Given the description of an element on the screen output the (x, y) to click on. 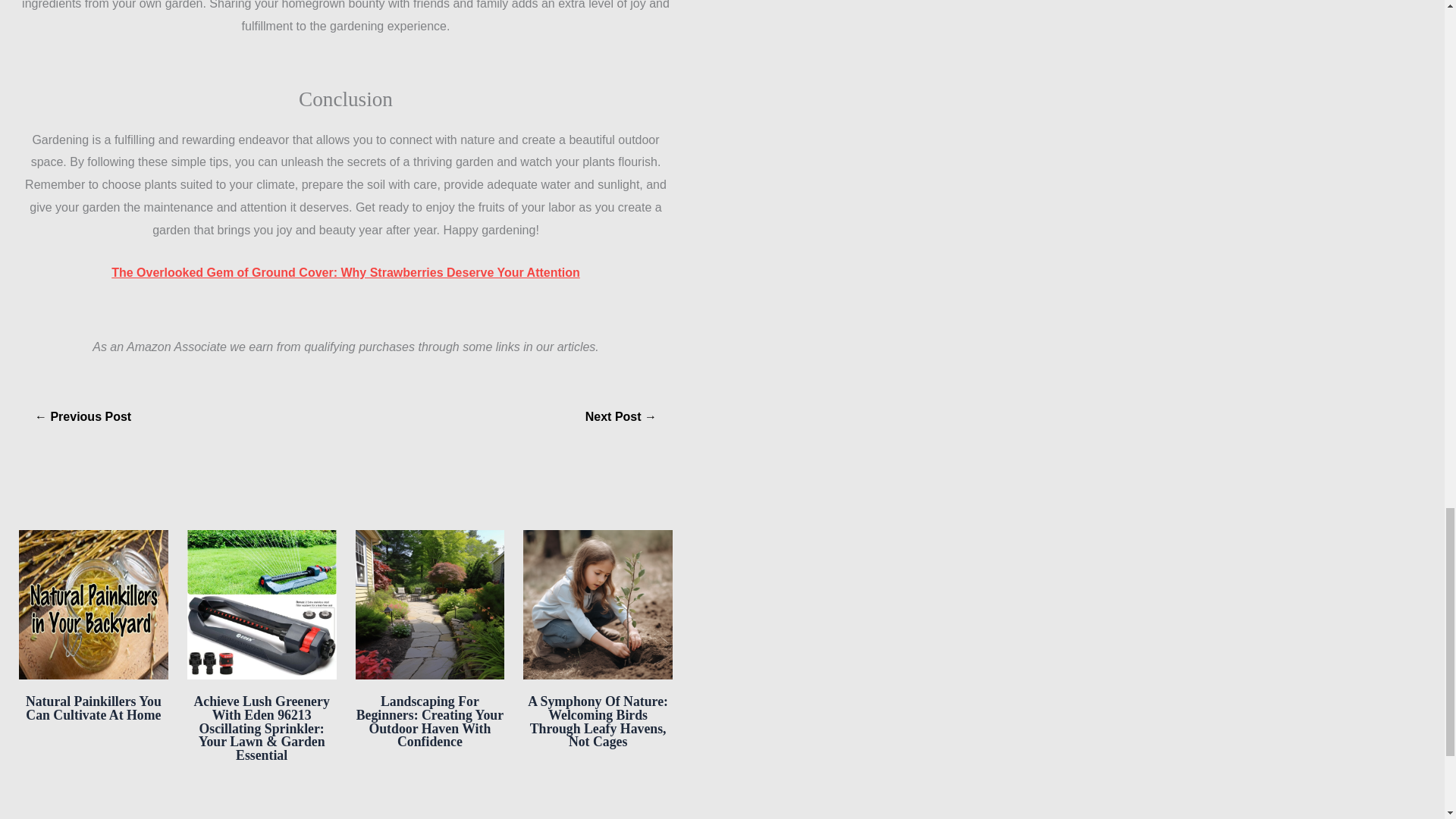
Natural Painkillers You Can Cultivate At Home (93, 707)
10 Unbelievably Easy Indoor Plants That Survive on Neglect (621, 417)
